Given the description of an element on the screen output the (x, y) to click on. 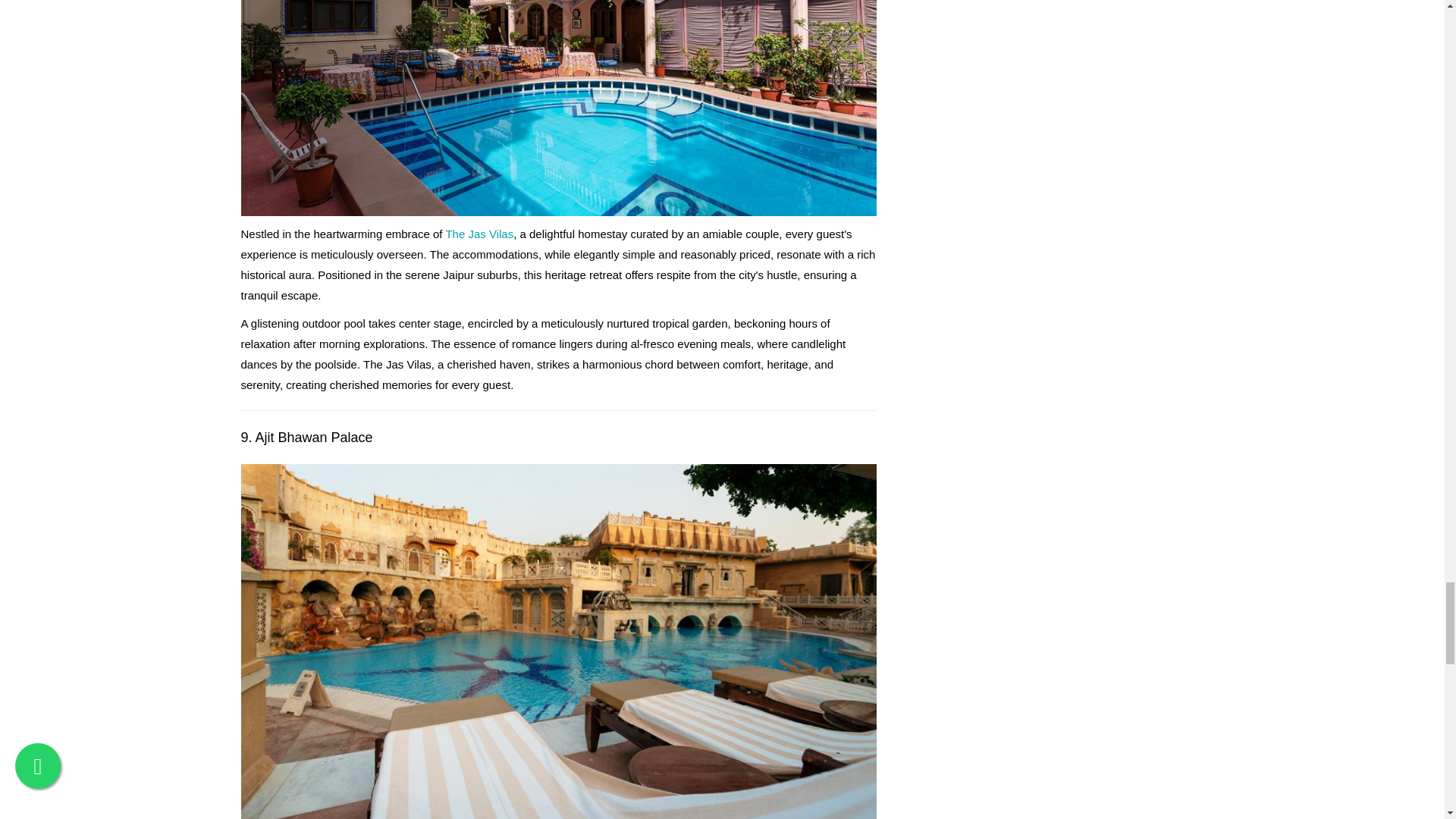
The Jas Vilas (479, 233)
